Given the description of an element on the screen output the (x, y) to click on. 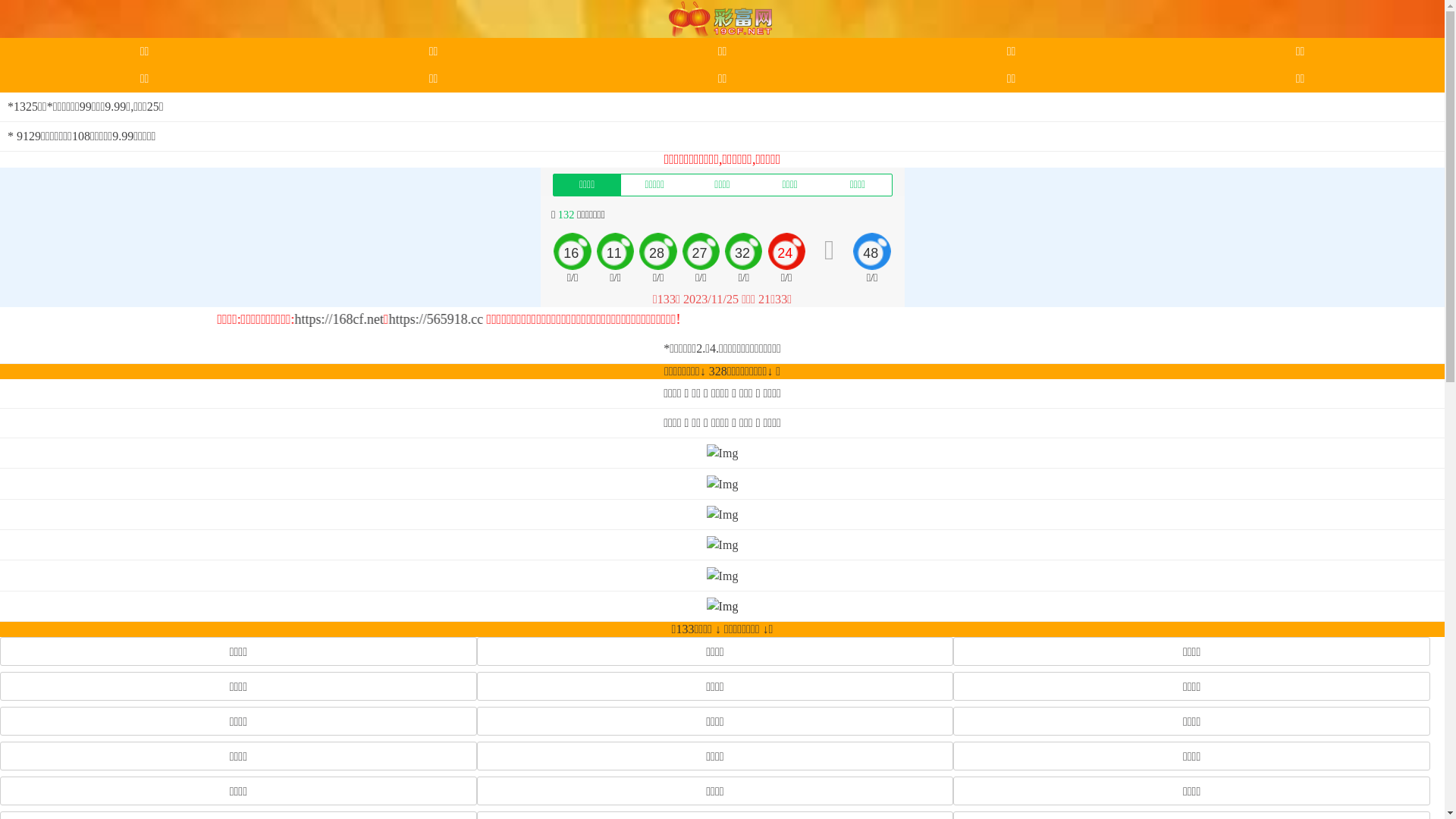
https://168cf.net Element type: text (867, 318)
https://565918.cc Element type: text (963, 318)
